Given the description of an element on the screen output the (x, y) to click on. 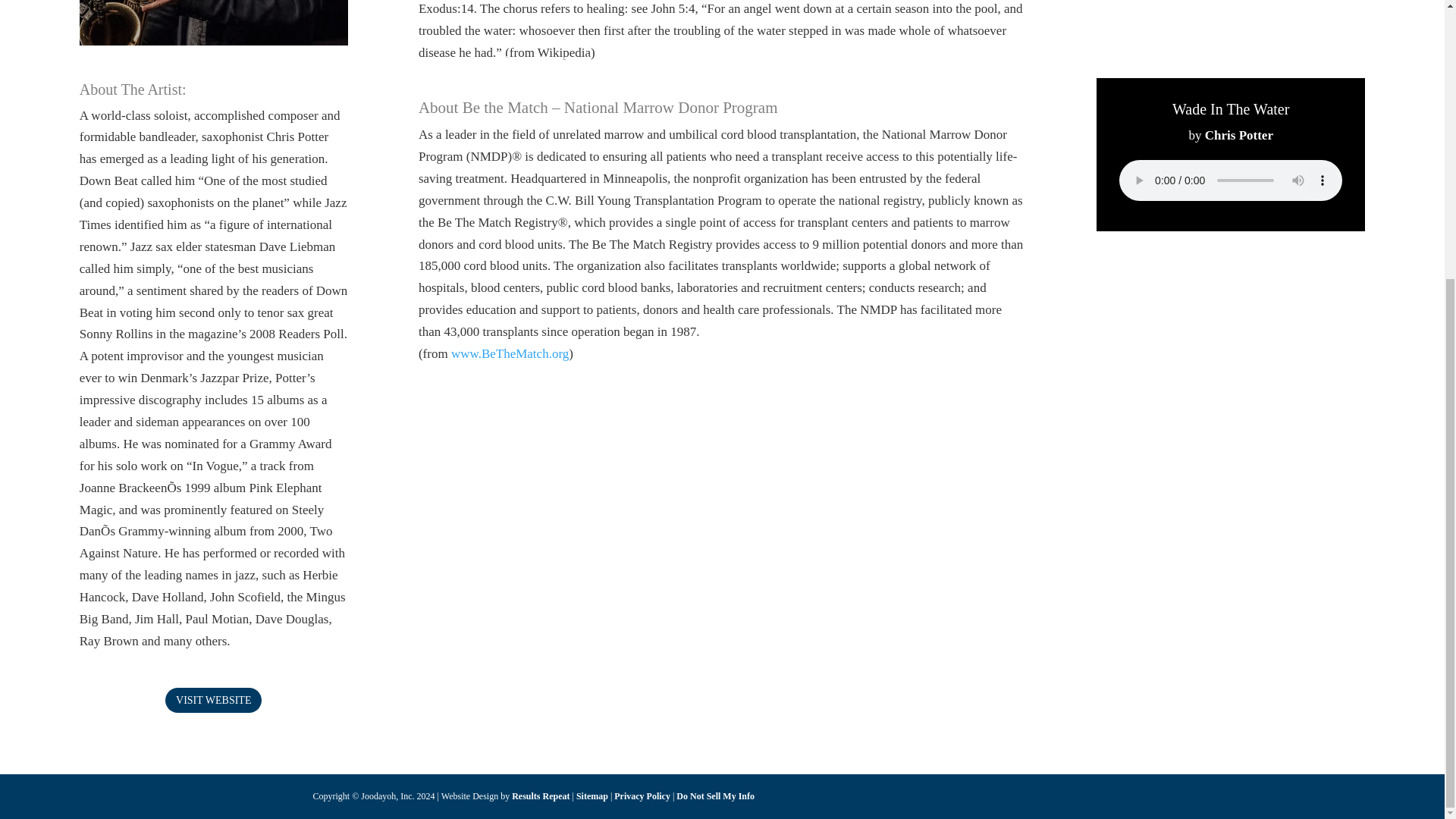
www.BeTheMatch.org (510, 353)
Privacy Policy (641, 796)
Sitemap (592, 796)
Results Repeat (540, 796)
VISIT WEBSITE (213, 699)
Do Not Sell My Info (715, 796)
